Given the description of an element on the screen output the (x, y) to click on. 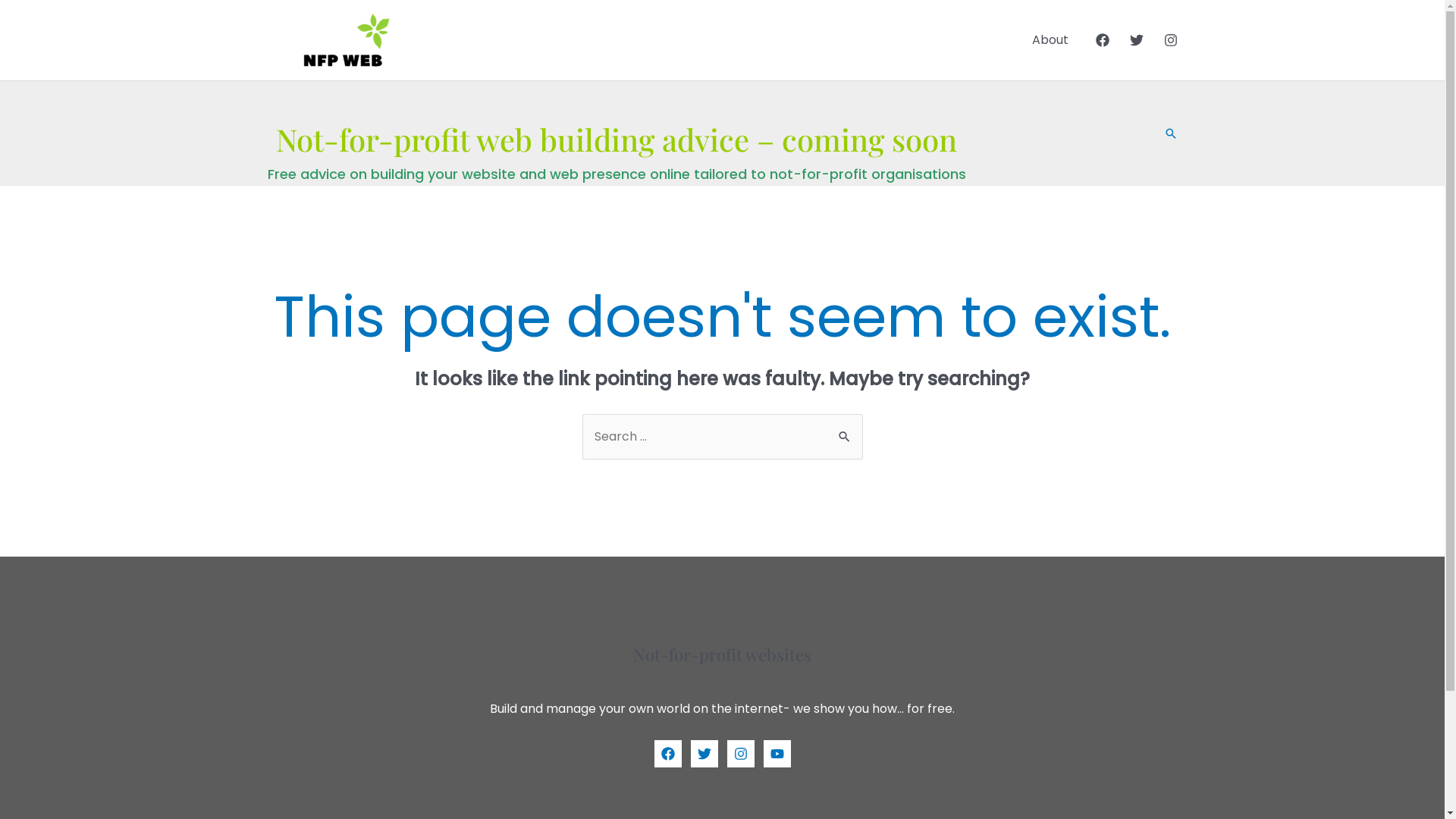
About Element type: text (1049, 39)
Search Element type: text (845, 429)
Search Element type: text (1169, 133)
